Given the description of an element on the screen output the (x, y) to click on. 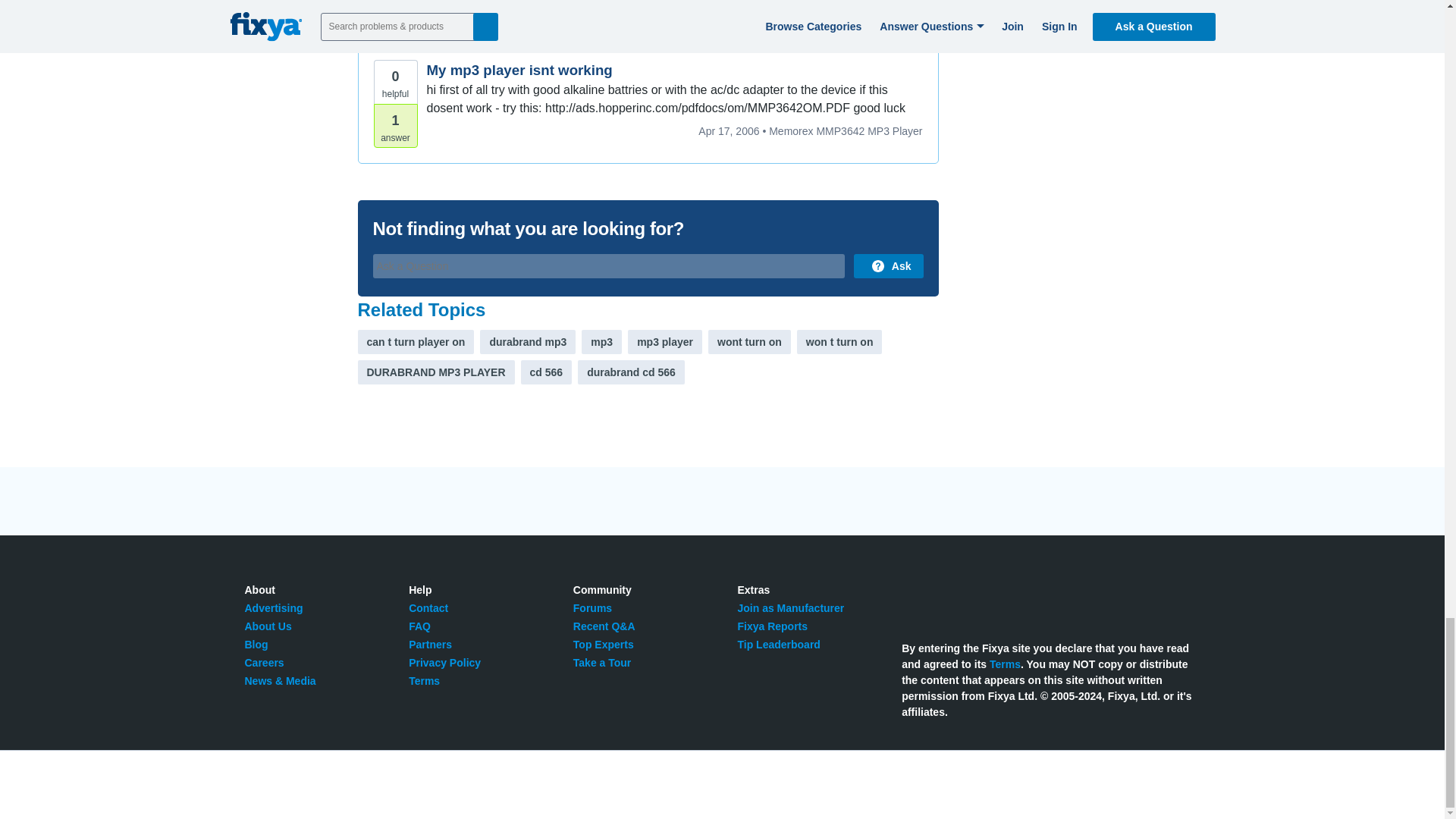
Ask (888, 265)
